Given the description of an element on the screen output the (x, y) to click on. 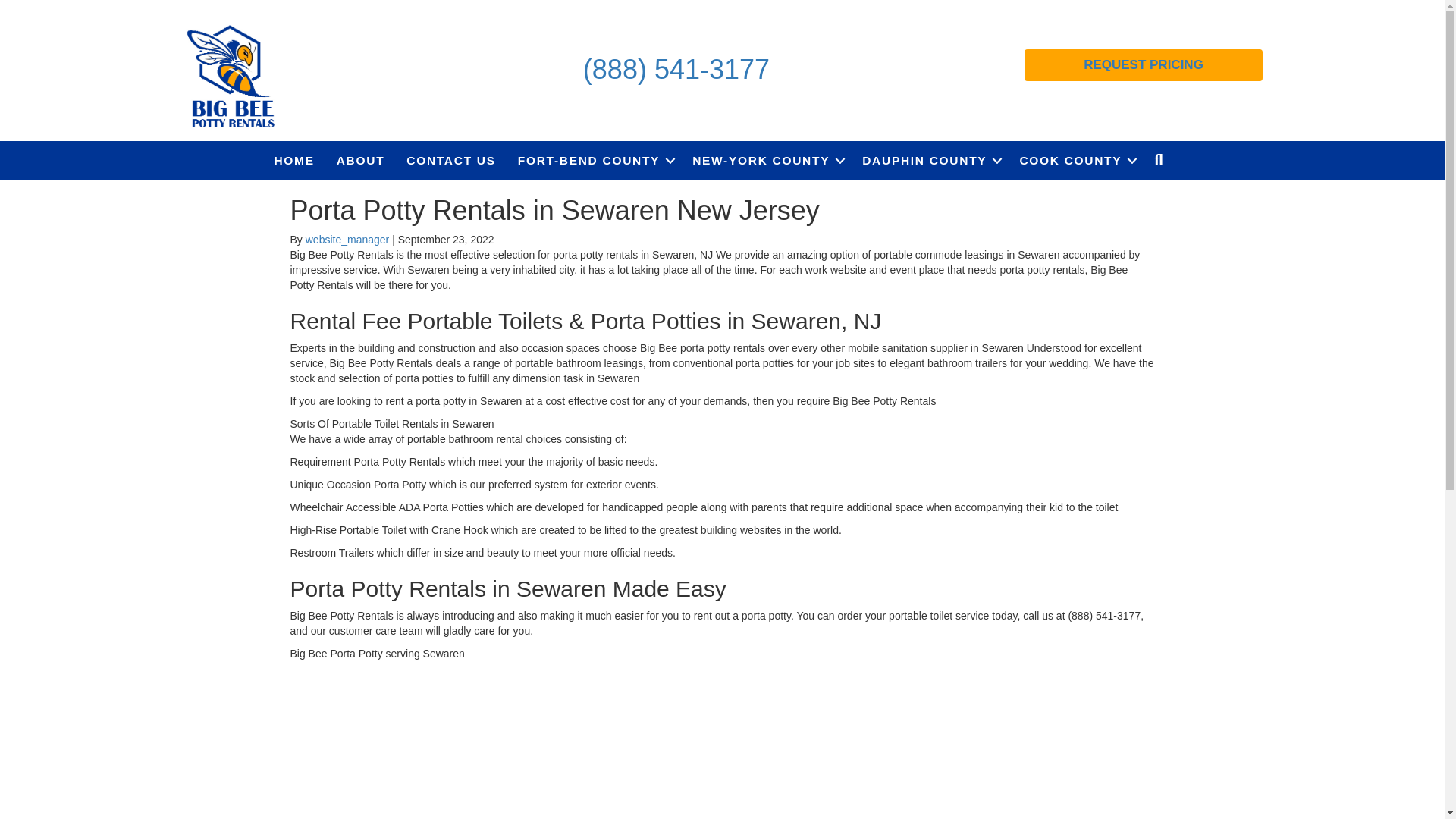
FORT-BEND COUNTY (593, 160)
REQUEST PRICING (1144, 65)
HOME (293, 160)
Skip to content (34, 6)
NEW-YORK COUNTY (765, 160)
CONTACT US (450, 160)
DAUPHIN COUNTY (929, 160)
ABOUT (361, 160)
COOK COUNTY (1075, 160)
